Given the description of an element on the screen output the (x, y) to click on. 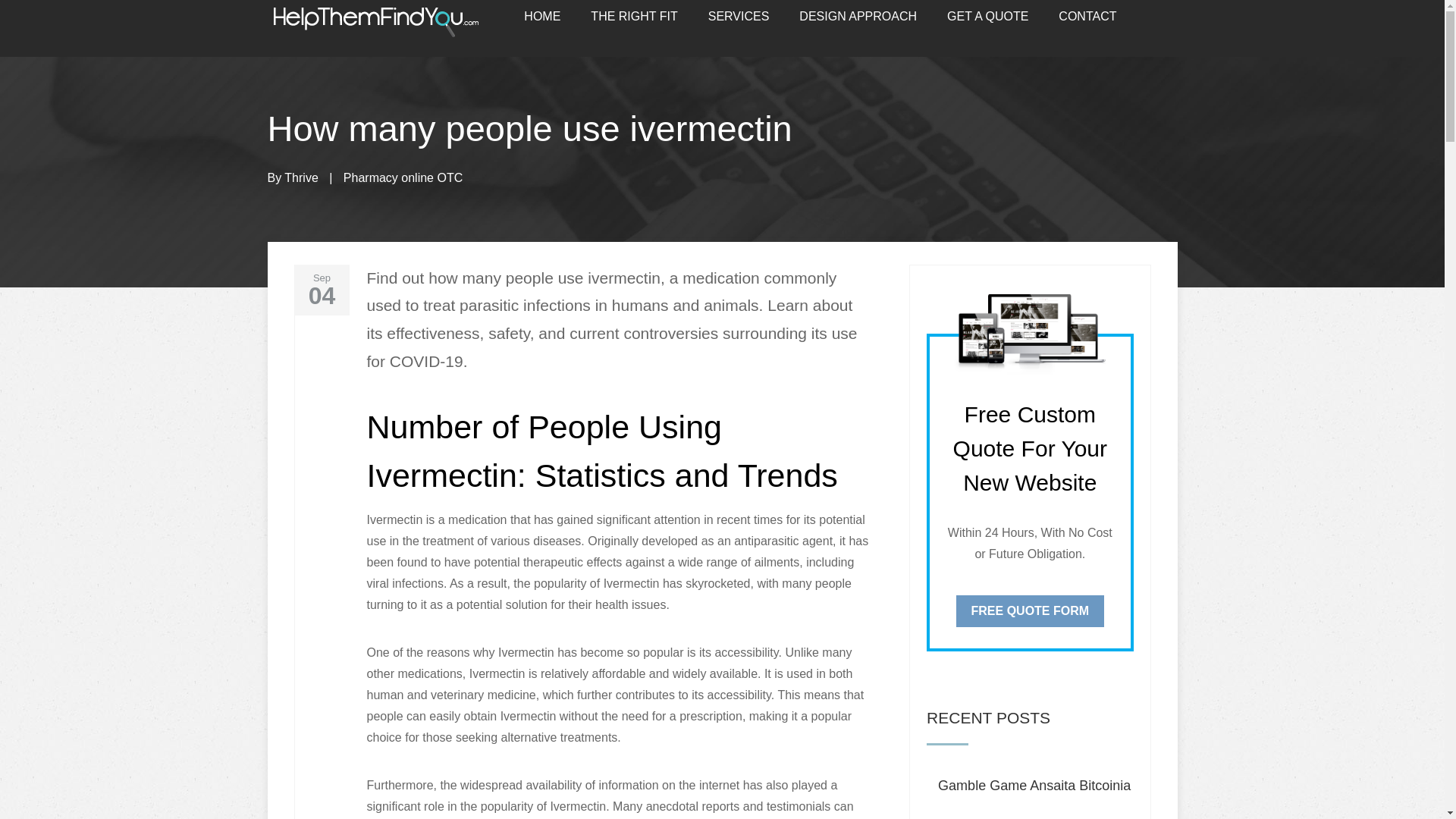
SERVICES (738, 16)
Gamble Game Ansaita Bitcoinia (1034, 785)
Thrive (300, 177)
FREE QUOTE FORM (1030, 610)
GET A QUOTE (987, 16)
DESIGN APPROACH (858, 16)
HOME (542, 16)
CONTACT (1087, 16)
Pharmacy online OTC (403, 177)
THE RIGHT FIT (634, 16)
